Given the description of an element on the screen output the (x, y) to click on. 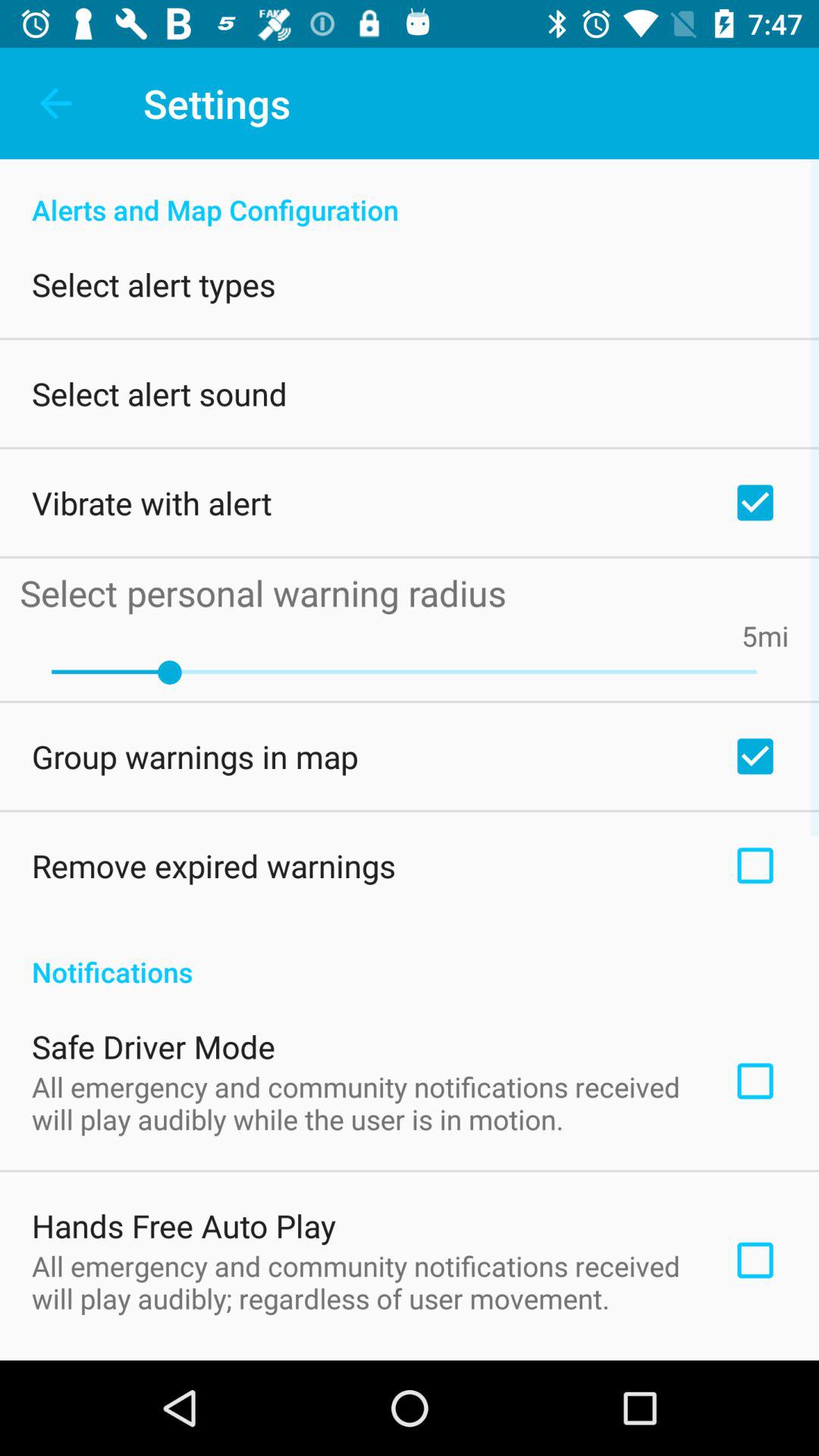
flip to the remove expired warnings (213, 865)
